Given the description of an element on the screen output the (x, y) to click on. 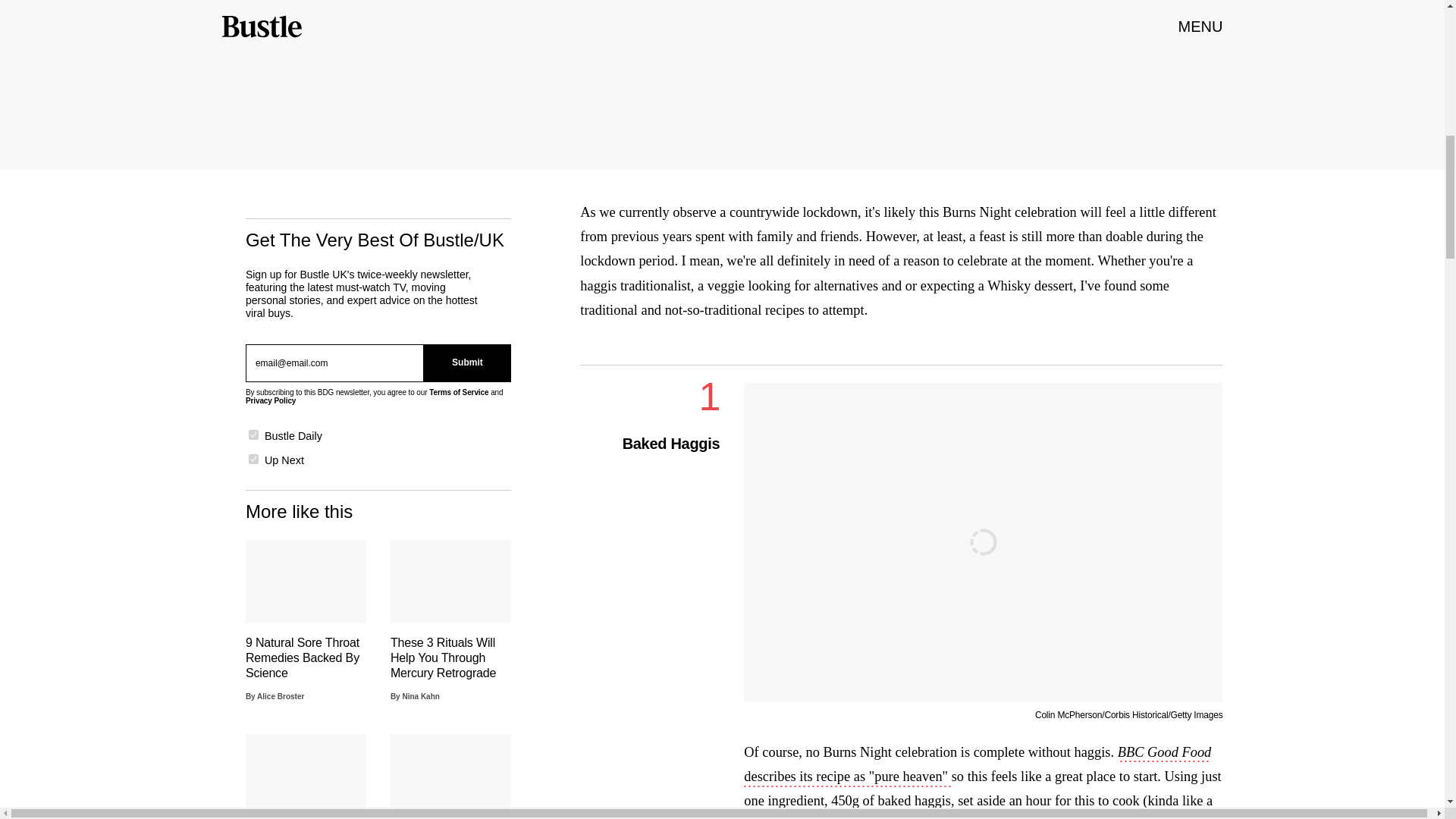
Terms of Service (458, 392)
Privacy Policy (270, 400)
Submit (467, 362)
BBC Good Food describes its recipe as "pure heaven" (977, 765)
